Given the description of an element on the screen output the (x, y) to click on. 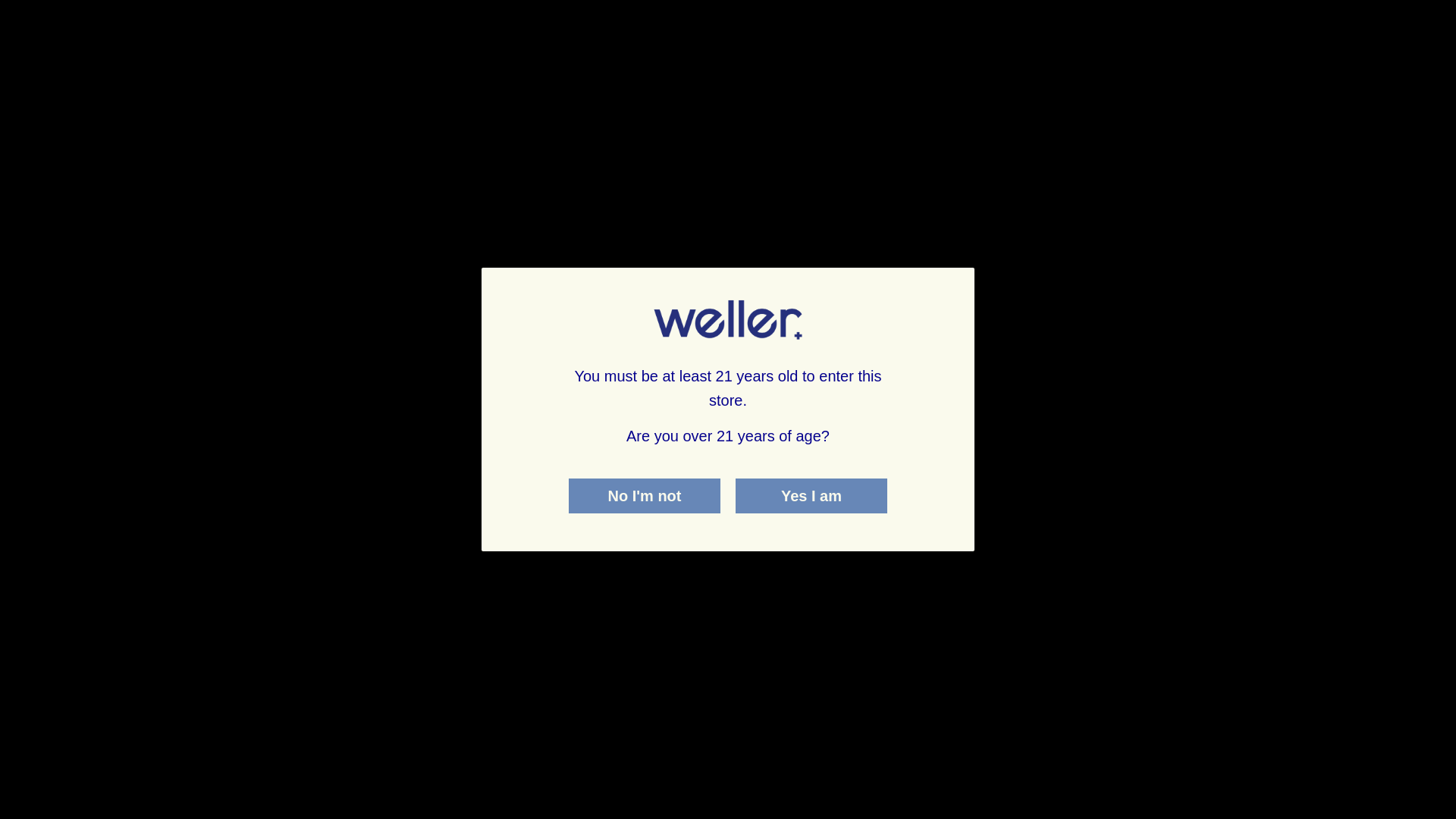
Shop (48, 231)
1 (698, 804)
Back to the frontpage (135, 496)
Home (135, 496)
Subscribe (1251, 655)
Contact (49, 278)
